Given the description of an element on the screen output the (x, y) to click on. 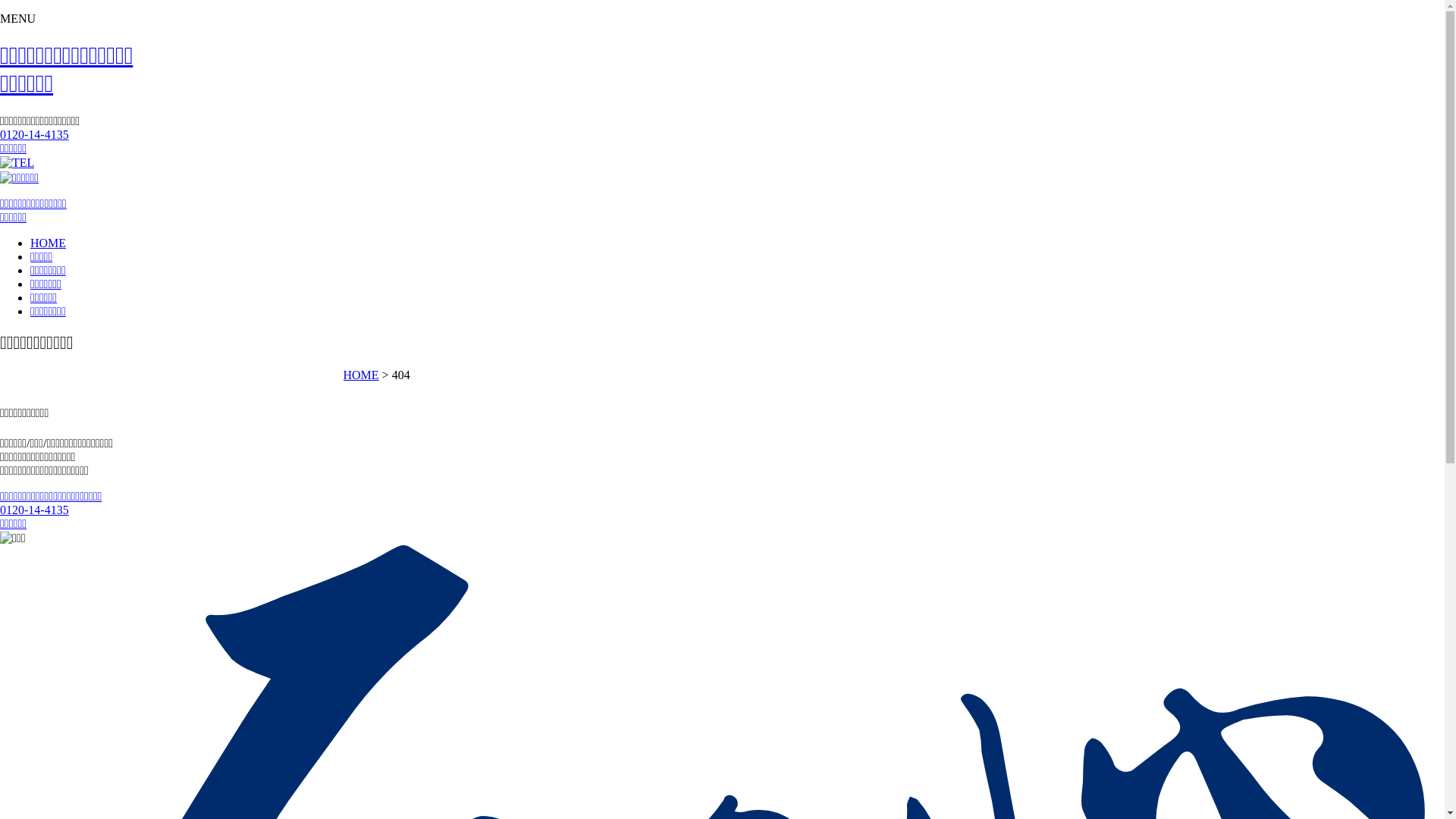
0120-14-4135 Element type: text (34, 134)
HOME Element type: text (360, 374)
HOME Element type: text (47, 242)
